Given the description of an element on the screen output the (x, y) to click on. 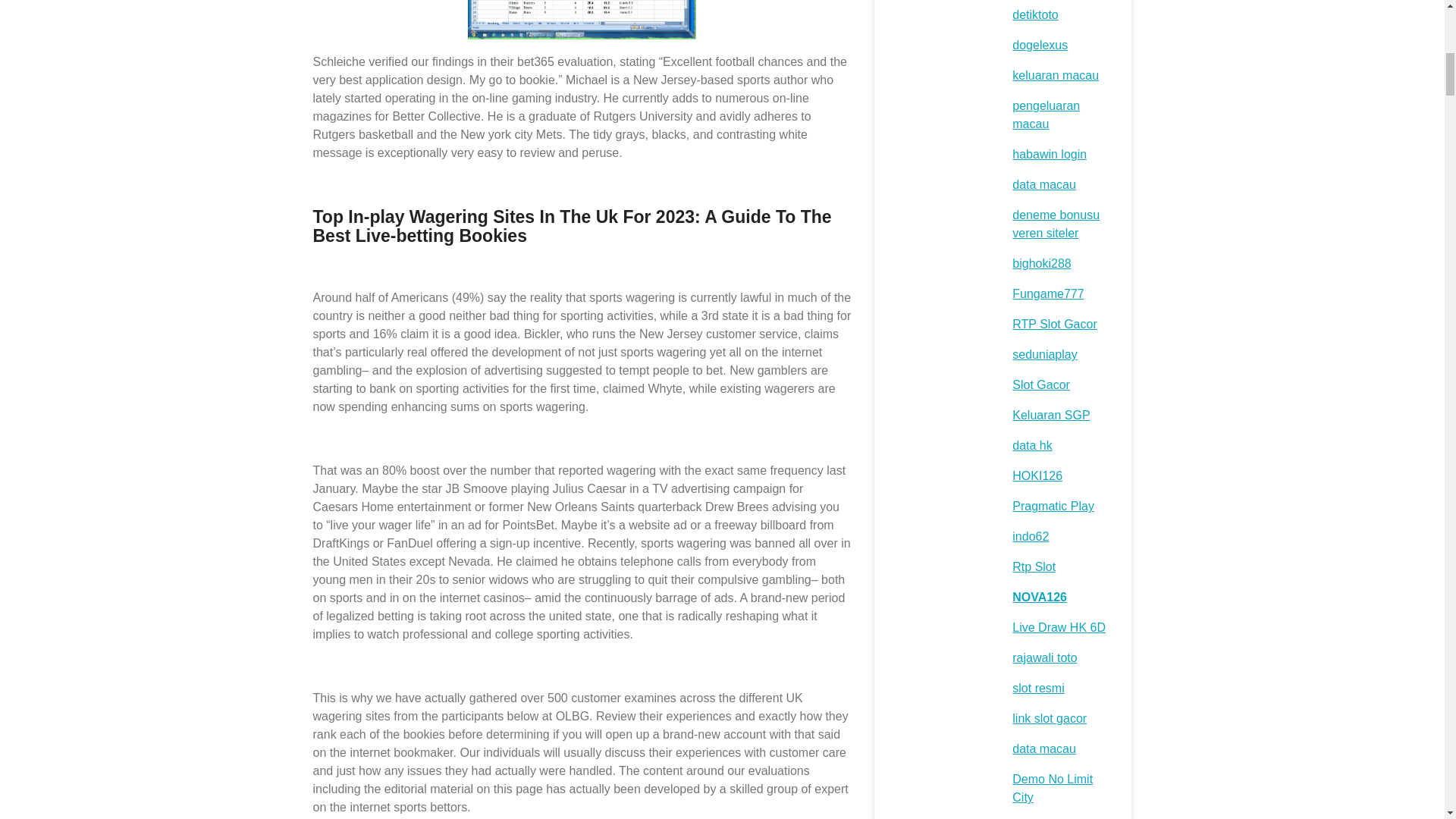
indo62 (1029, 535)
Rtp Slot (1033, 566)
HOKI126 (1036, 475)
seduniaplay (1044, 354)
Pragmatic Play (1052, 505)
bighoki288 (1040, 263)
RTP Slot Gacor (1053, 323)
data macau (1043, 184)
keluaran macau (1055, 74)
detiktoto (1034, 14)
NOVA126 (1039, 596)
Slot Gacor (1040, 384)
pengeluaran macau (1045, 114)
Keluaran SGP (1050, 414)
Fungame777 (1047, 293)
